Given the description of an element on the screen output the (x, y) to click on. 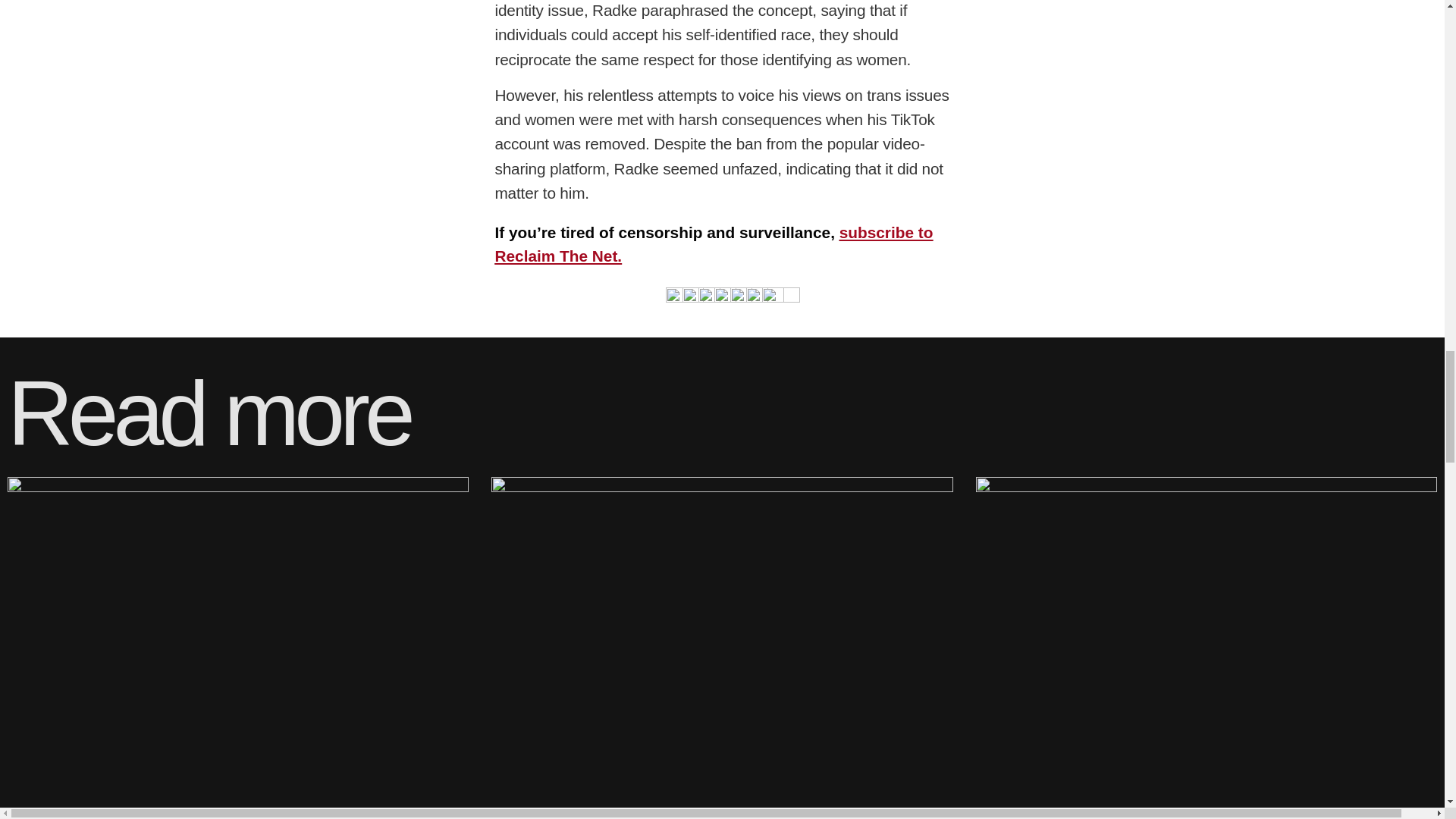
subscribe to Reclaim The Net. (714, 243)
